Given the description of an element on the screen output the (x, y) to click on. 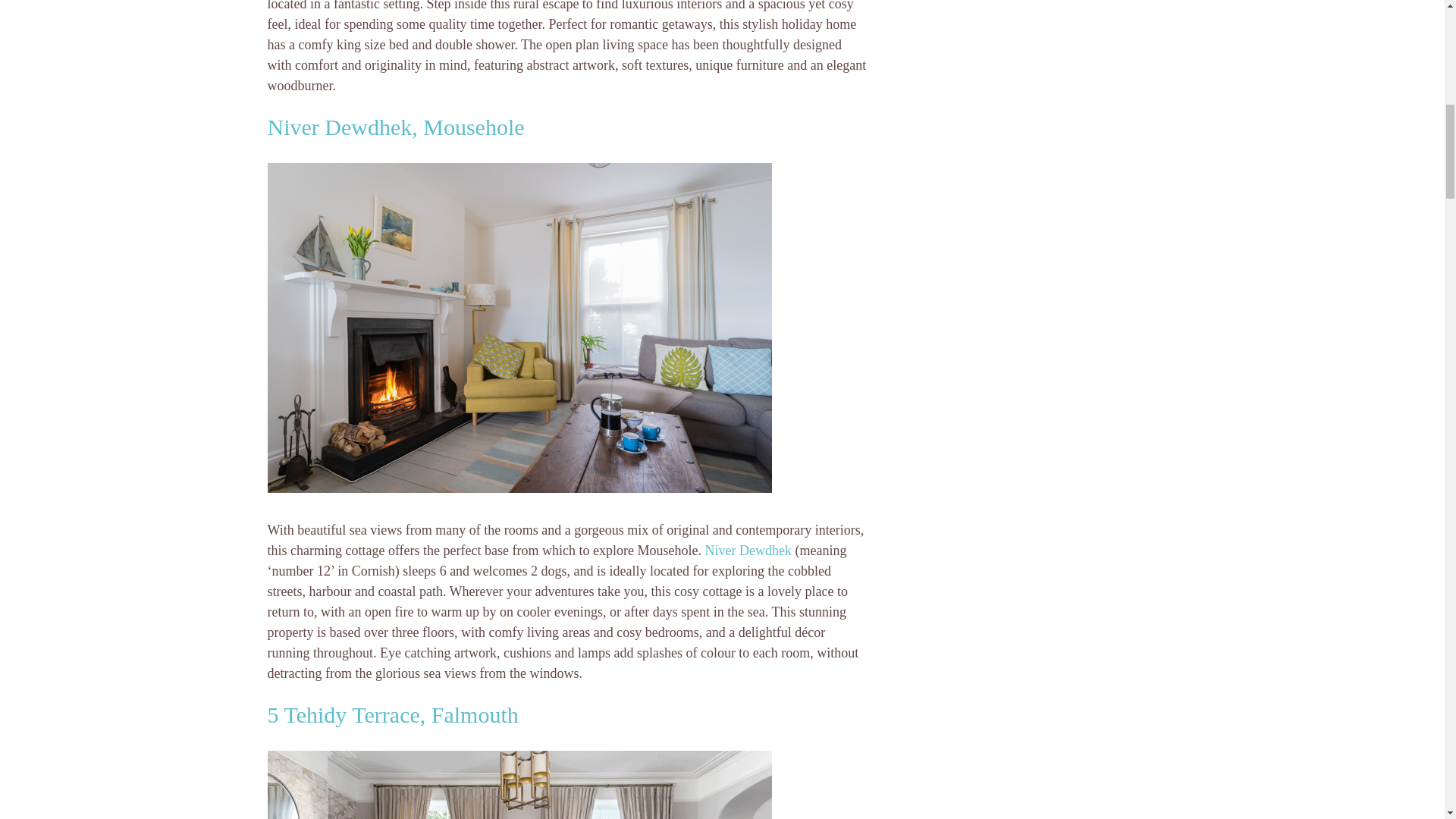
5 Tehidy Terrace (518, 785)
Niver Dewdhek (747, 549)
